Given the description of an element on the screen output the (x, y) to click on. 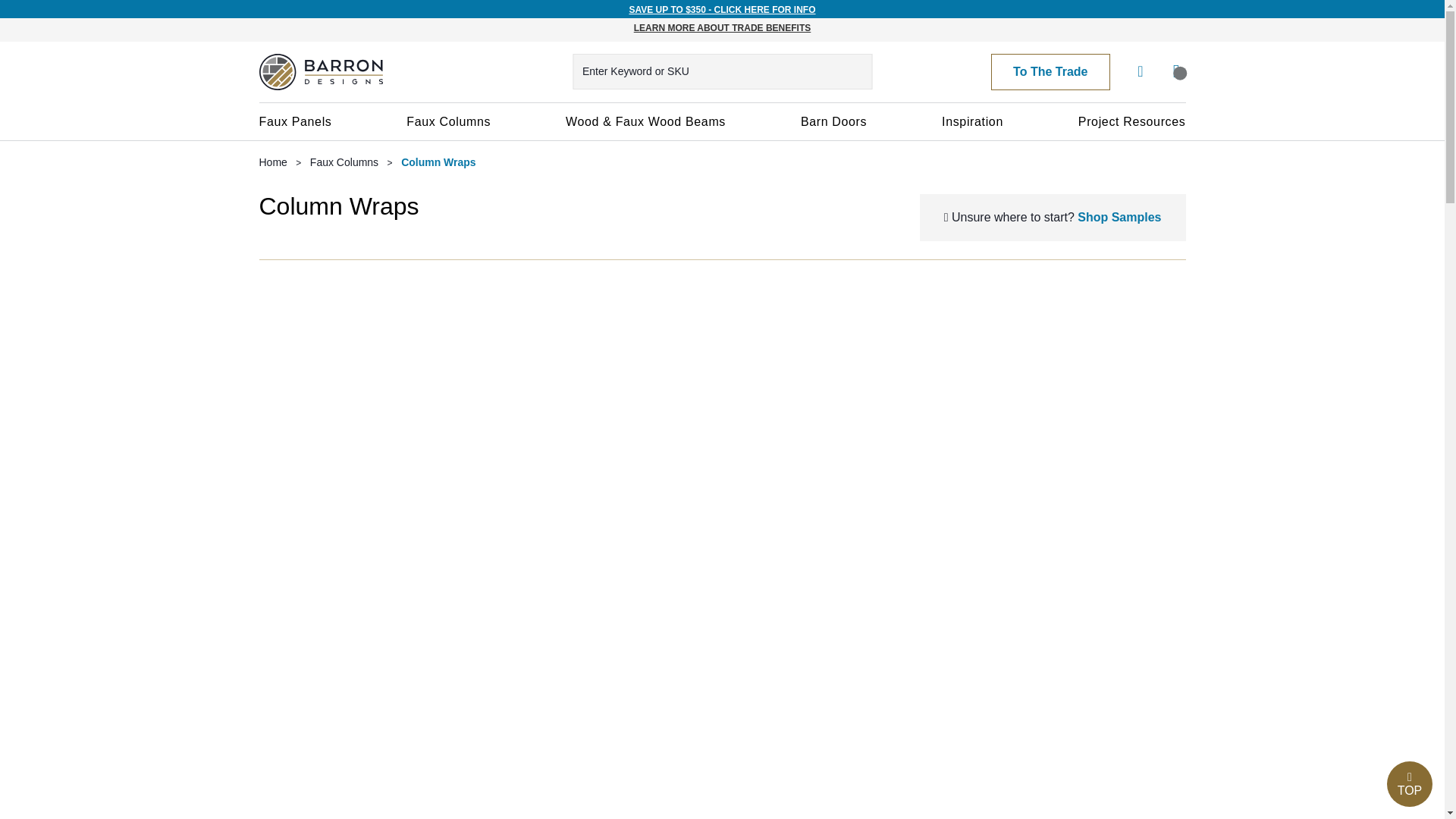
Go to top (1409, 783)
Faux Panels (295, 121)
LEARN MORE ABOUT TRADE BENEFITS (721, 27)
Search (856, 71)
Faux Columns (448, 121)
